Given the description of an element on the screen output the (x, y) to click on. 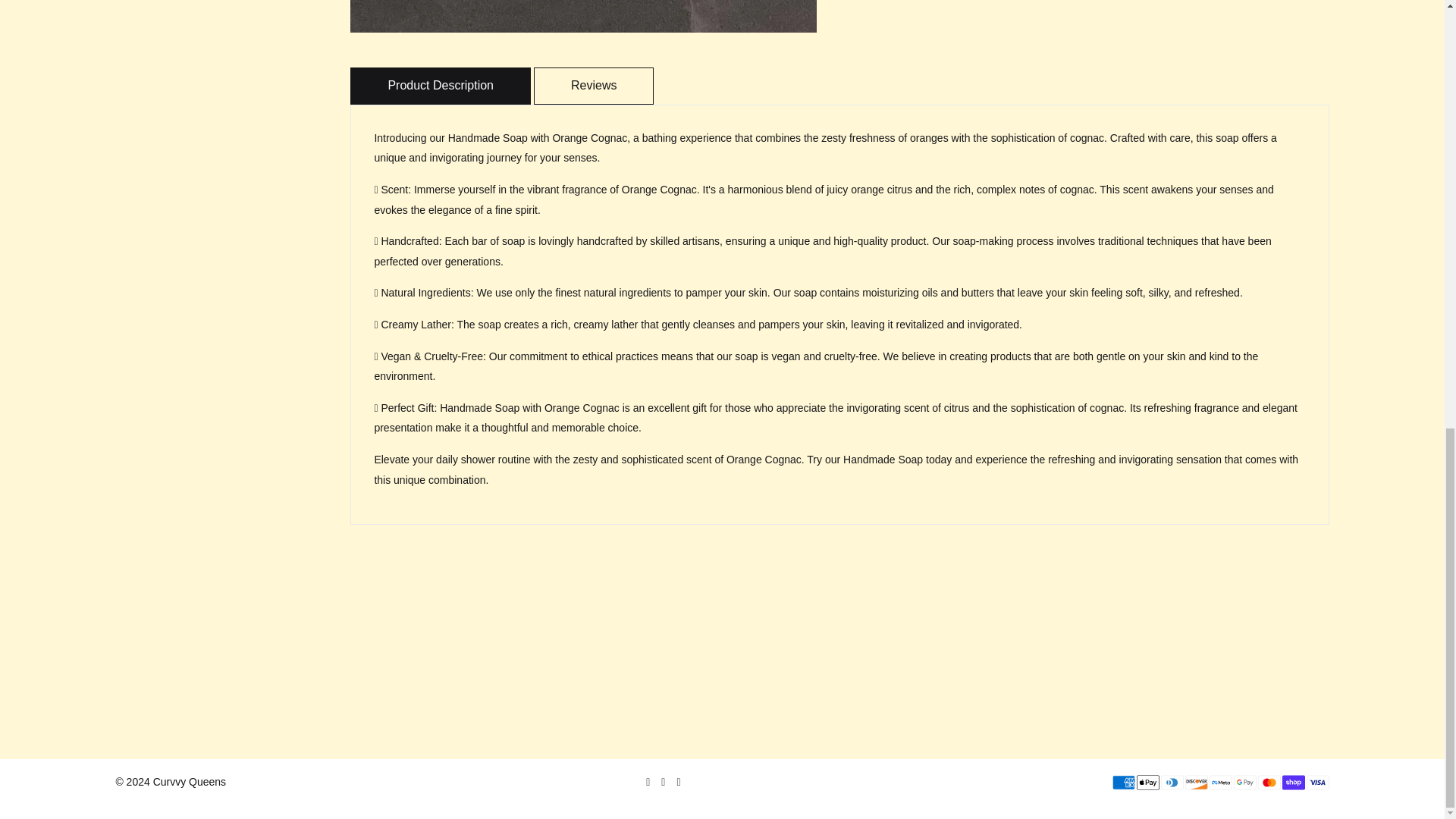
Visa (1317, 782)
1 (764, 8)
Product Description (440, 85)
Reviews (593, 85)
Discover (1196, 782)
Mastercard (1269, 782)
Shop Pay (1293, 782)
Diners Club (1171, 782)
Default Title (634, 10)
Dream (583, 16)
Google Pay (1244, 782)
- (734, 8)
Apple Pay (1147, 782)
American Express (1123, 782)
Meta Pay (1220, 782)
